Given the description of an element on the screen output the (x, y) to click on. 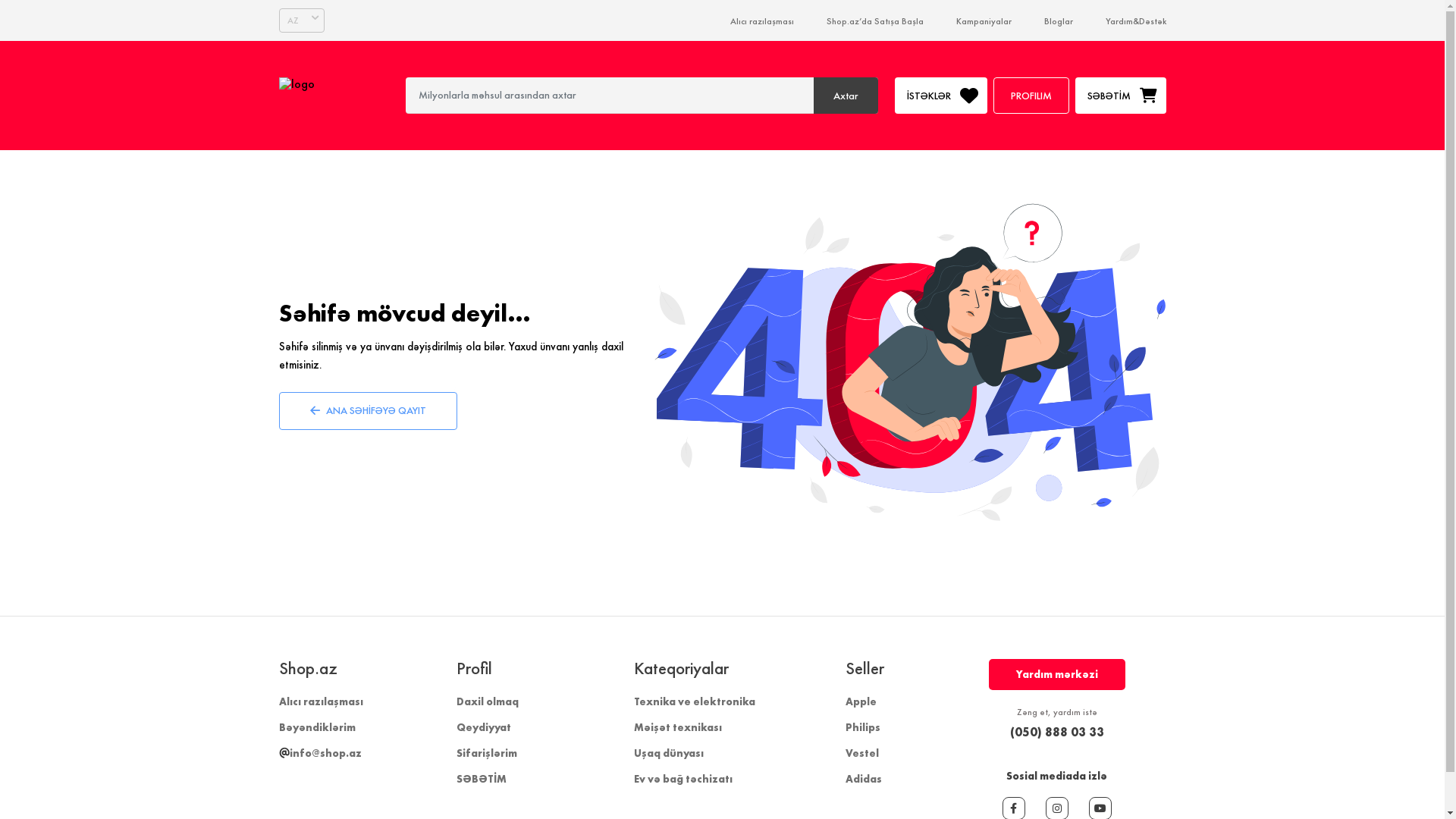
Daxil olmaq Element type: text (487, 701)
Qeydiyyat Element type: text (483, 726)
Apple Element type: text (859, 701)
Texnika ve elektronika Element type: text (694, 701)
Vestel Element type: text (861, 752)
Adidas Element type: text (862, 778)
info@shop.az Element type: text (320, 752)
Bloglar Element type: text (1057, 20)
Kampaniyalar Element type: text (982, 20)
(050) 888 03 33 Element type: text (1056, 731)
Philips Element type: text (861, 726)
